Given the description of an element on the screen output the (x, y) to click on. 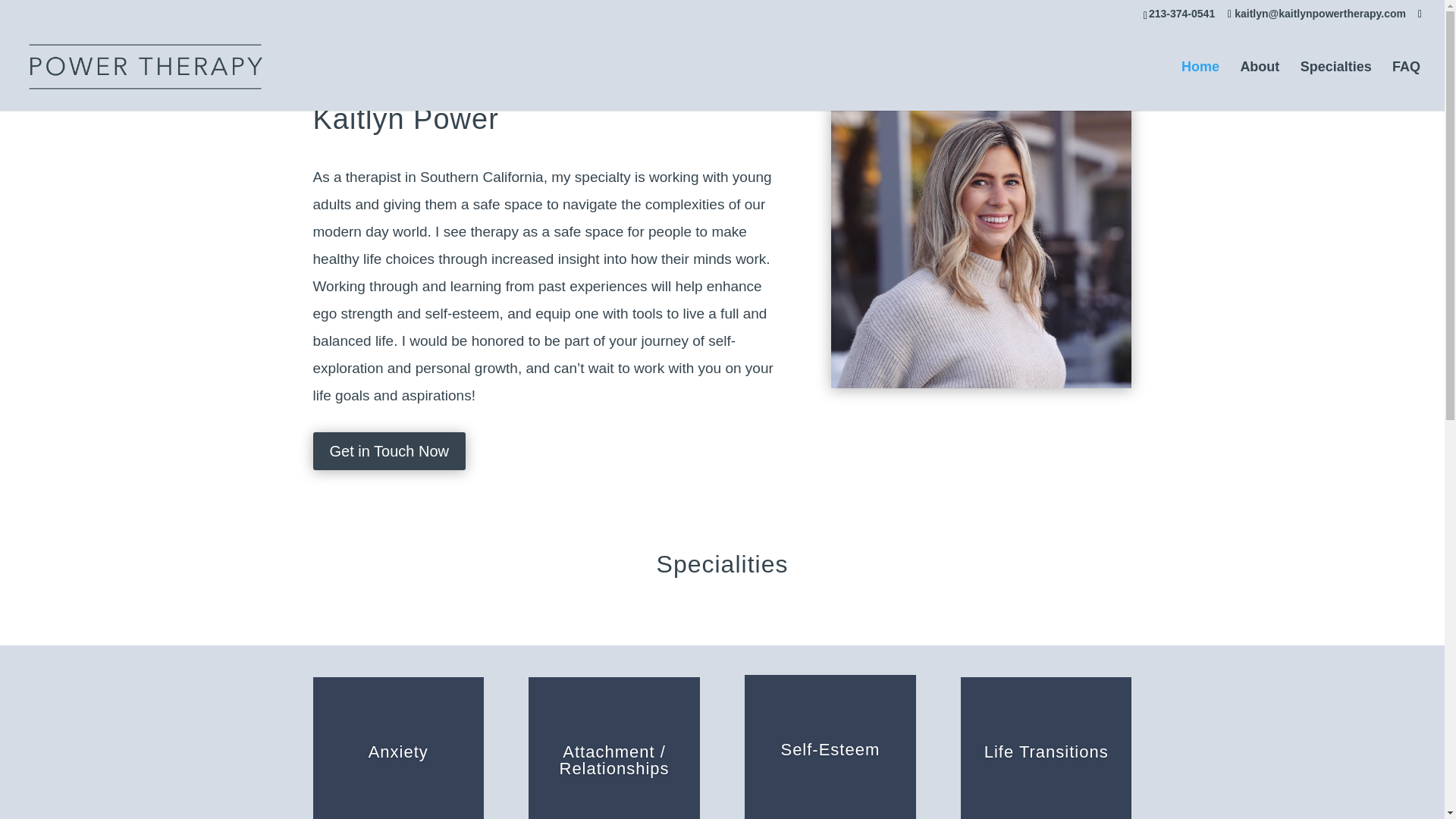
Kaitlyn Power Therapy Headshot (981, 246)
Specialties (1335, 85)
FAQ (1406, 85)
About (1259, 85)
Get in Touch Now (389, 451)
Home (1200, 85)
